Given the description of an element on the screen output the (x, y) to click on. 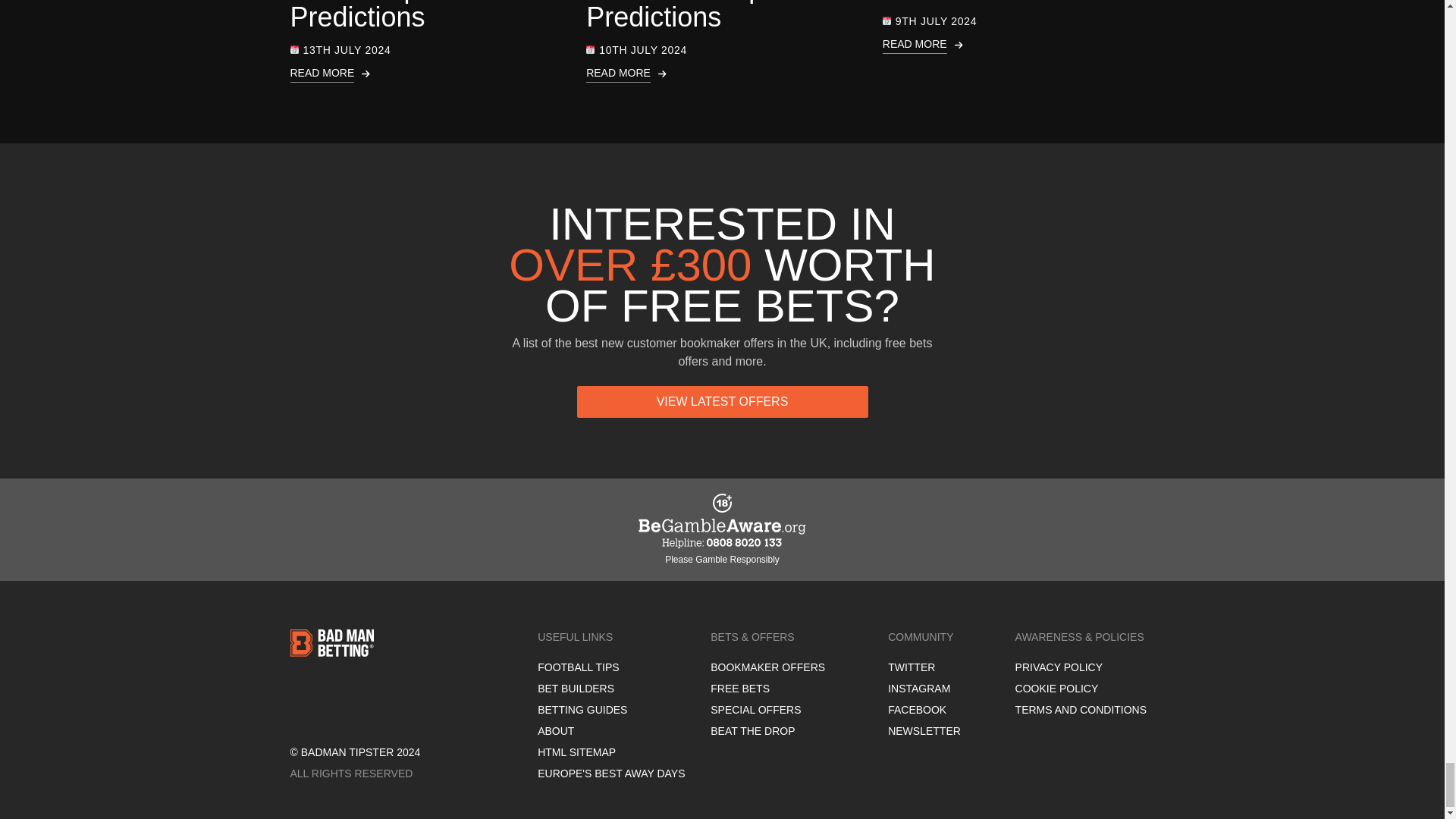
READ MORE (425, 73)
READ MORE (722, 73)
